Given the description of an element on the screen output the (x, y) to click on. 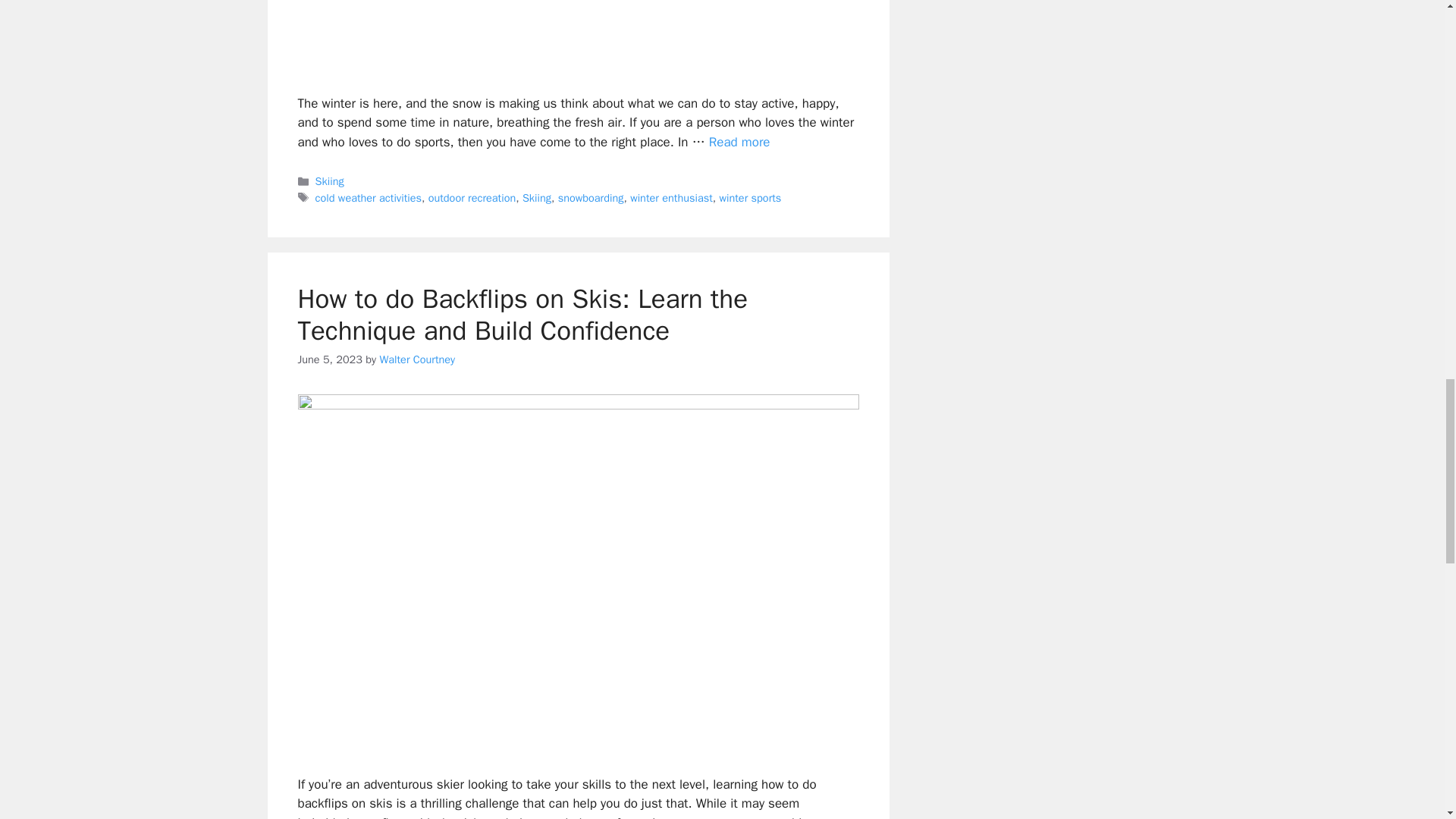
outdoor recreation (472, 197)
Walter Courtney (416, 359)
Read more (739, 141)
Skiing (329, 181)
Skiing (536, 197)
winter sports (749, 197)
View all posts by Walter Courtney (416, 359)
snowboarding (590, 197)
winter enthusiast (671, 197)
cold weather activities (368, 197)
